Given the description of an element on the screen output the (x, y) to click on. 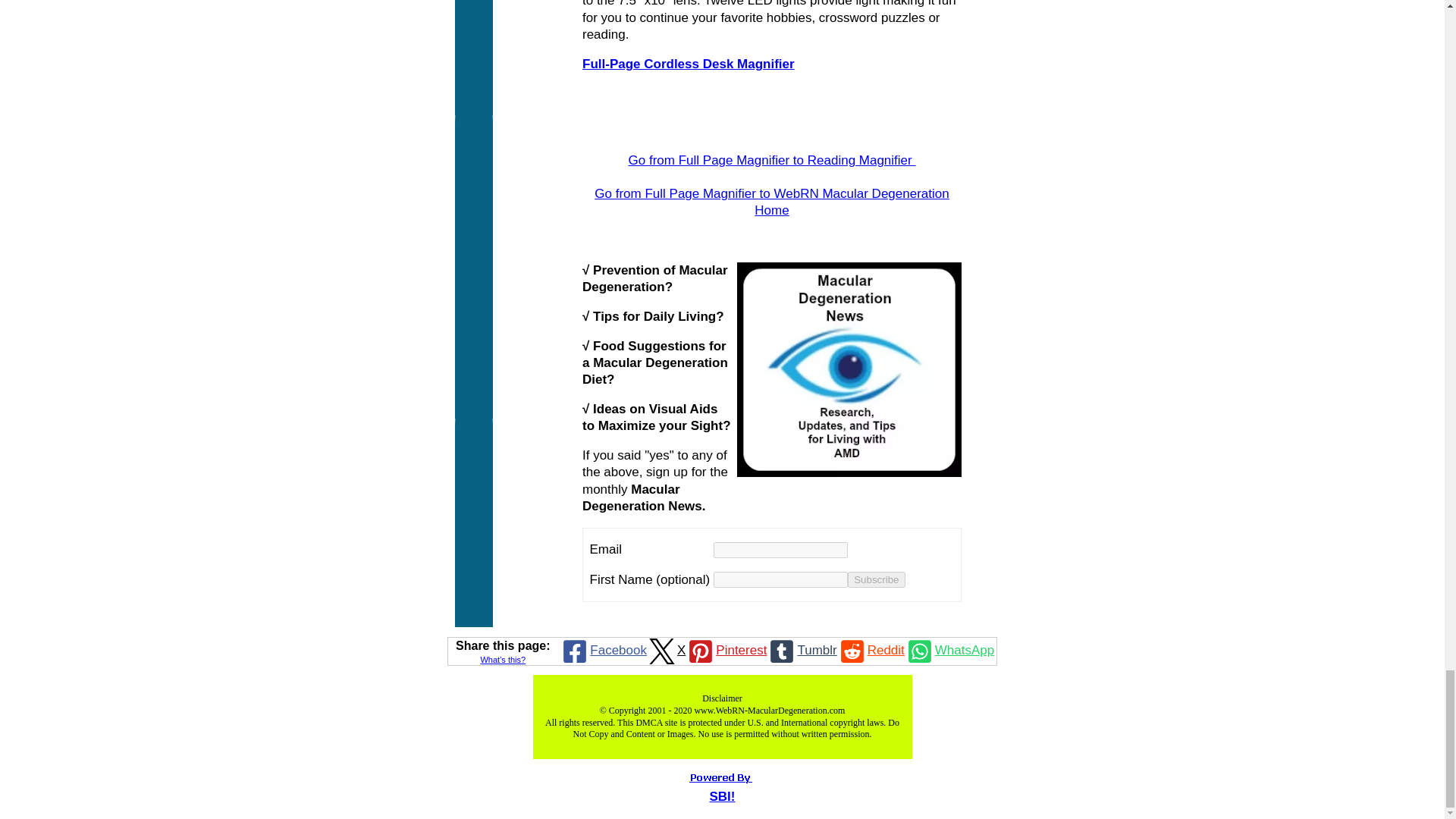
macular degeneration news (848, 369)
Full-Page Cordless Desk Magnifier (688, 63)
Subscribe (875, 579)
Go from Full Page Magnifier to Reading Magnifier  (771, 160)
